Given the description of an element on the screen output the (x, y) to click on. 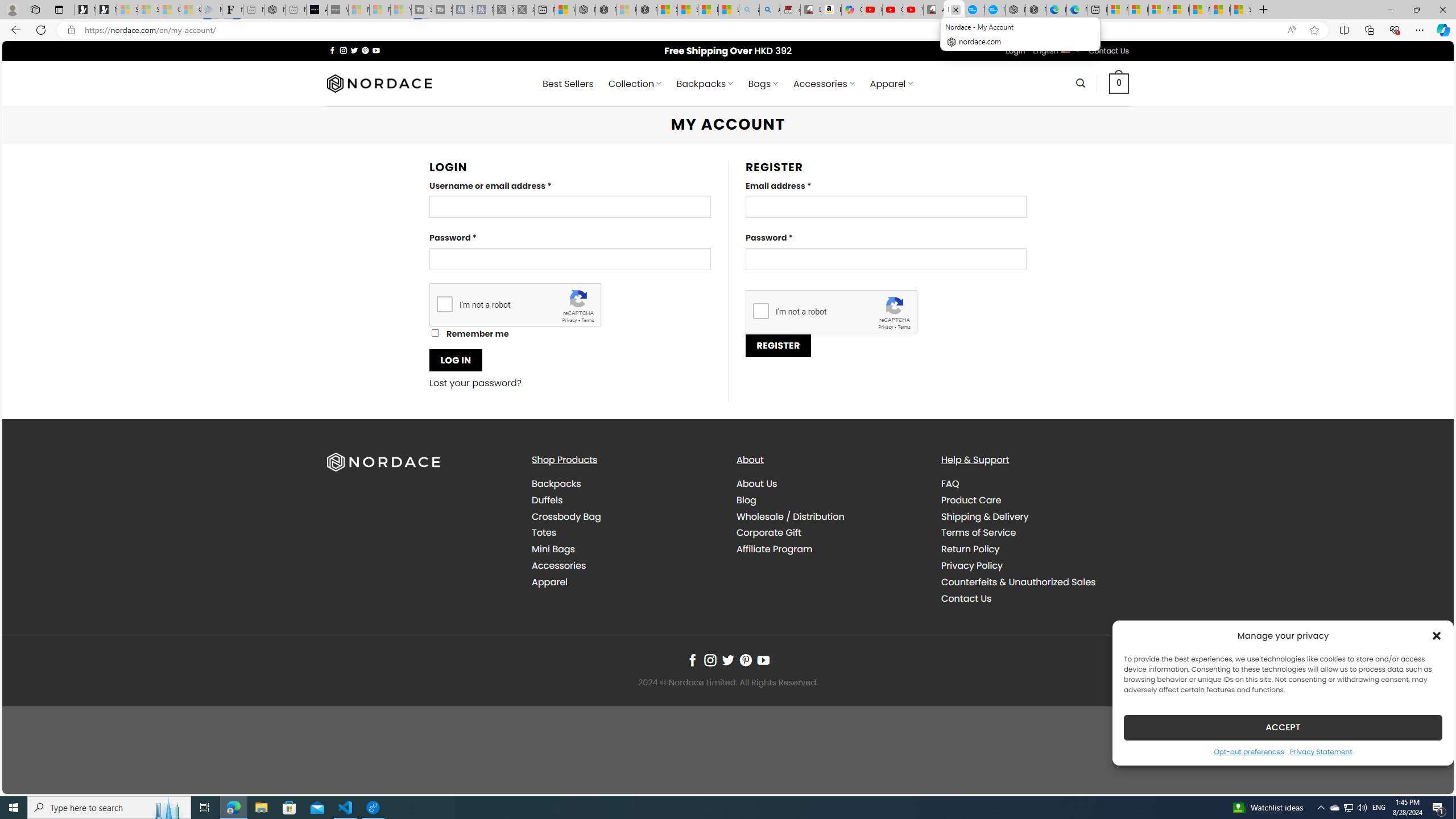
Accessories (625, 565)
New tab - Sleeping (296, 9)
REGISTER (777, 345)
Mini Bags (553, 549)
I'm not a robot (760, 310)
Opt-out preferences (1249, 750)
Product Care (1034, 499)
LOG IN (455, 359)
ACCEPT (1283, 727)
Return Policy (1034, 549)
